Given the description of an element on the screen output the (x, y) to click on. 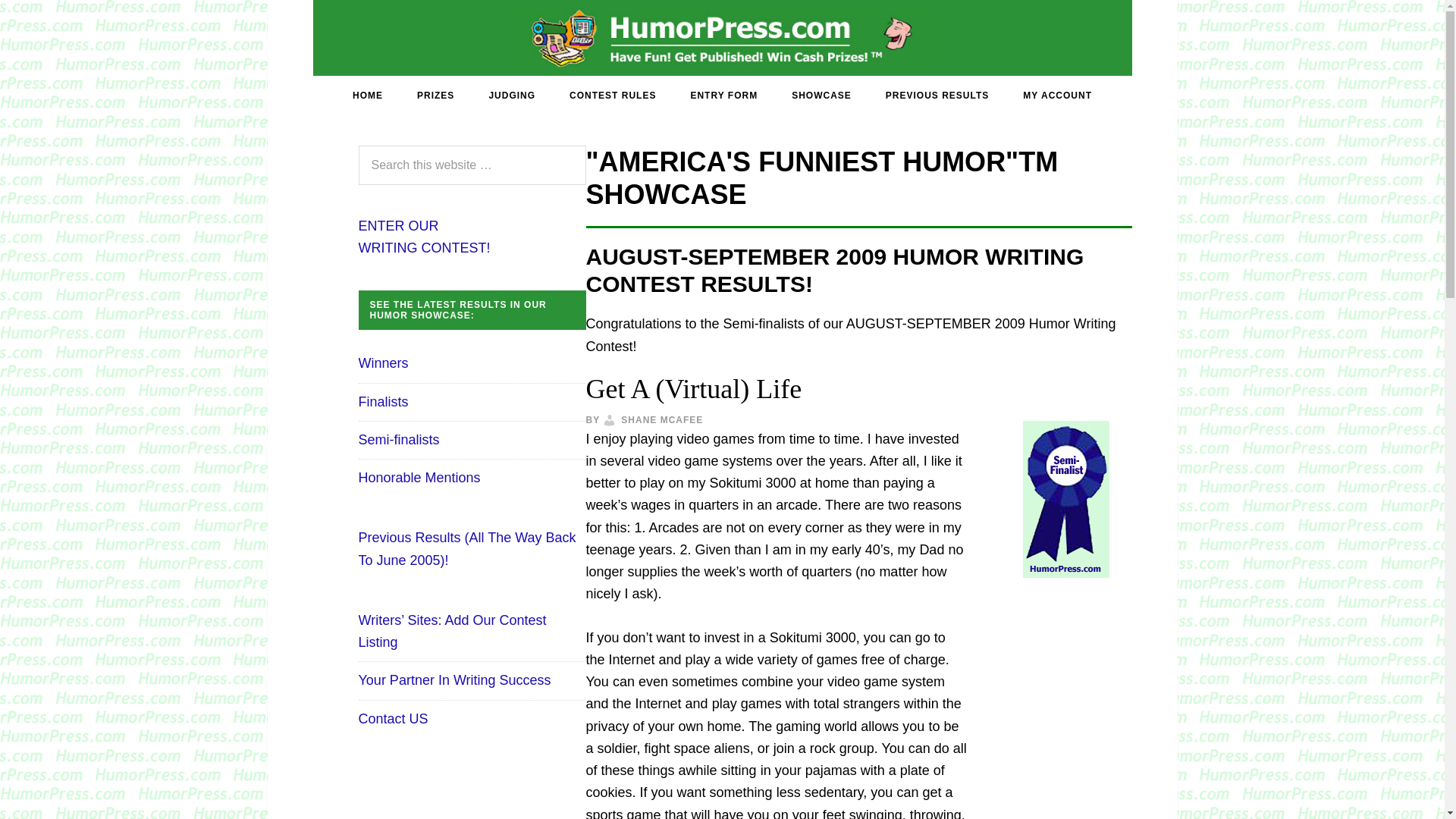
PRIZES (434, 95)
PREVIOUS RESULTS (937, 95)
JUDGING (511, 95)
ENTRY FORM (724, 95)
SHANE MCAFEE (662, 419)
MY ACCOUNT (1056, 95)
HUMORPRESS.COM (721, 37)
